Given the description of an element on the screen output the (x, y) to click on. 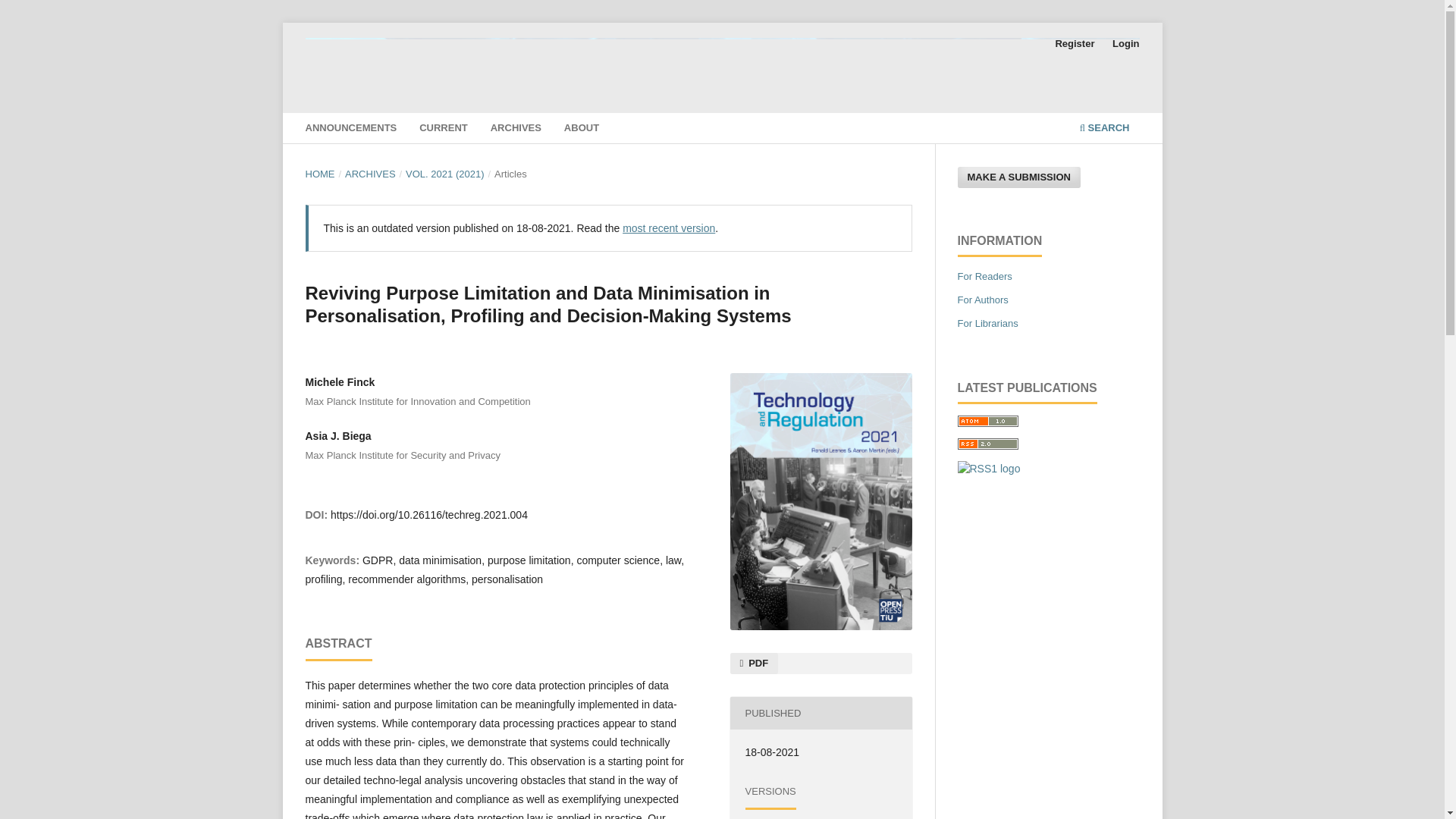
SEARCH (1104, 130)
ABOUT (581, 130)
For Readers (983, 276)
For Librarians (986, 323)
For Authors (981, 299)
Register (1074, 43)
ANNOUNCEMENTS (350, 130)
HOME (319, 174)
PDF (753, 663)
most recent version (668, 227)
ARCHIVES (515, 130)
Login (1126, 43)
CURRENT (443, 130)
ARCHIVES (370, 174)
MAKE A SUBMISSION (1018, 177)
